Given the description of an element on the screen output the (x, y) to click on. 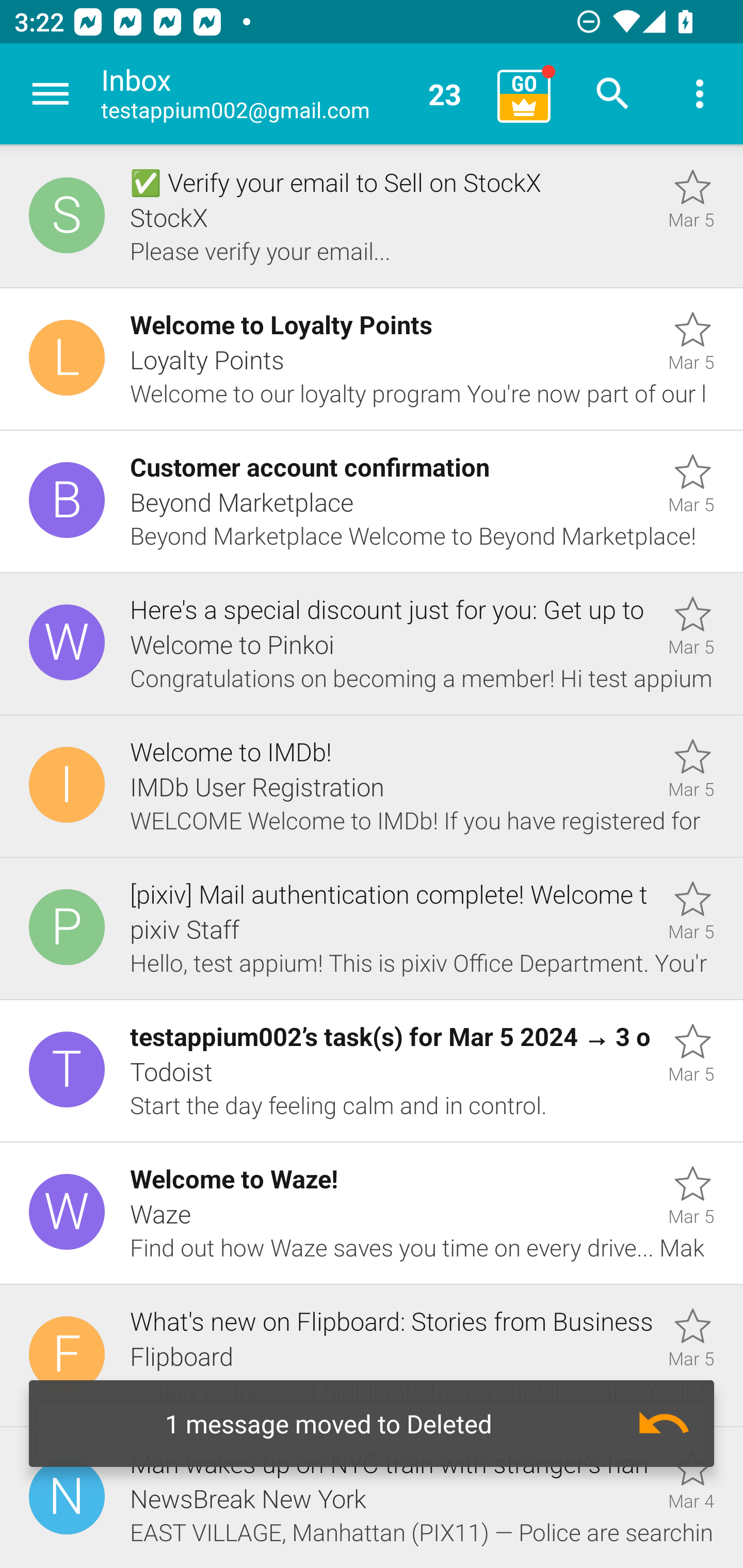
Navigate up (50, 93)
Inbox testappium002@gmail.com 23 (291, 93)
Search (612, 93)
More options (699, 93)
Undo 1 message moved to Deleted (371, 1423)
